Given the description of an element on the screen output the (x, y) to click on. 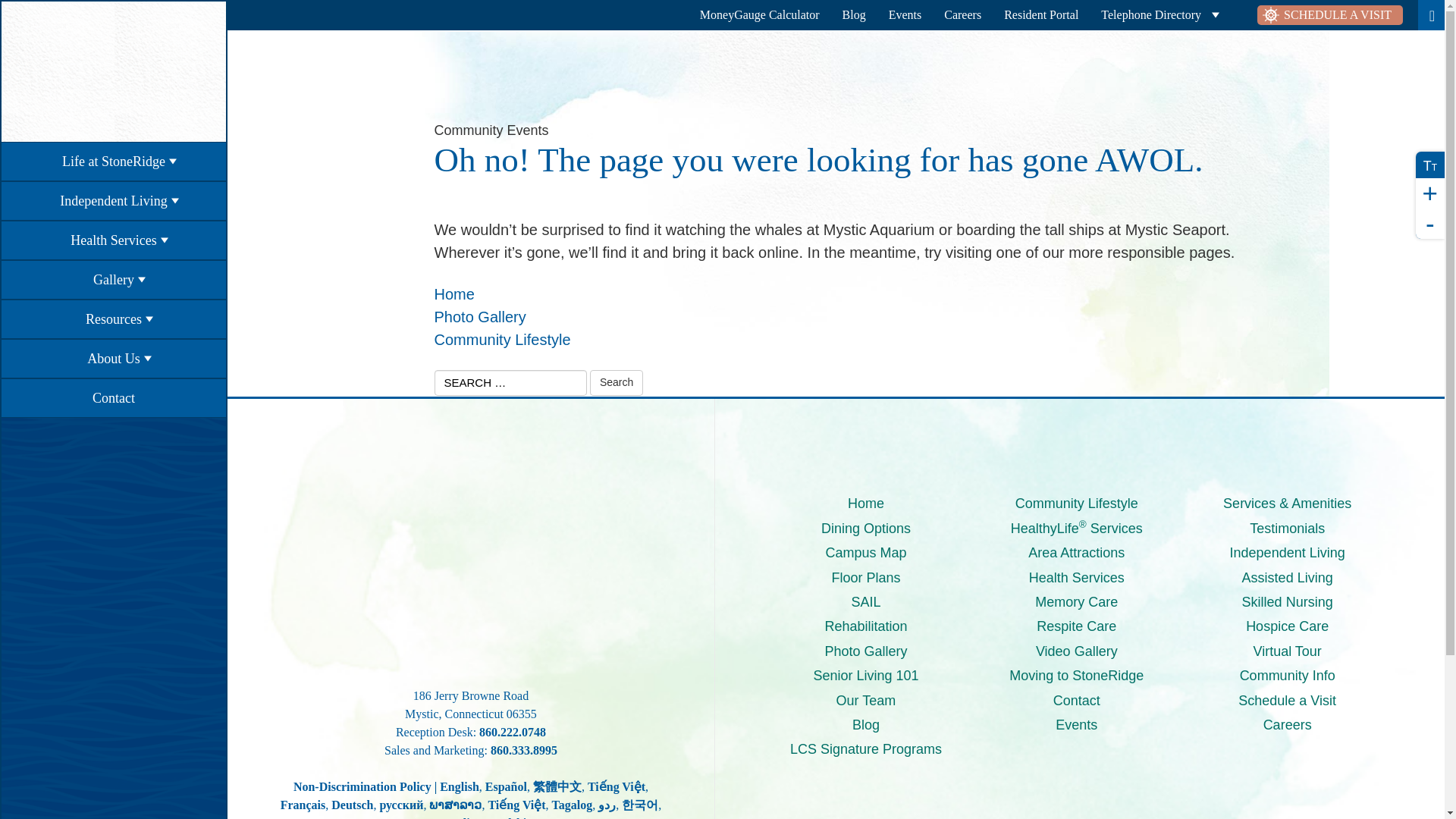
Health Services (113, 240)
StoneRidge (470, 556)
Contact (113, 397)
Search (616, 382)
StoneRidge (113, 71)
Life at StoneRidge (113, 160)
Resources (113, 319)
Blog (854, 15)
Events (905, 15)
Independent Living (113, 200)
